Given the description of an element on the screen output the (x, y) to click on. 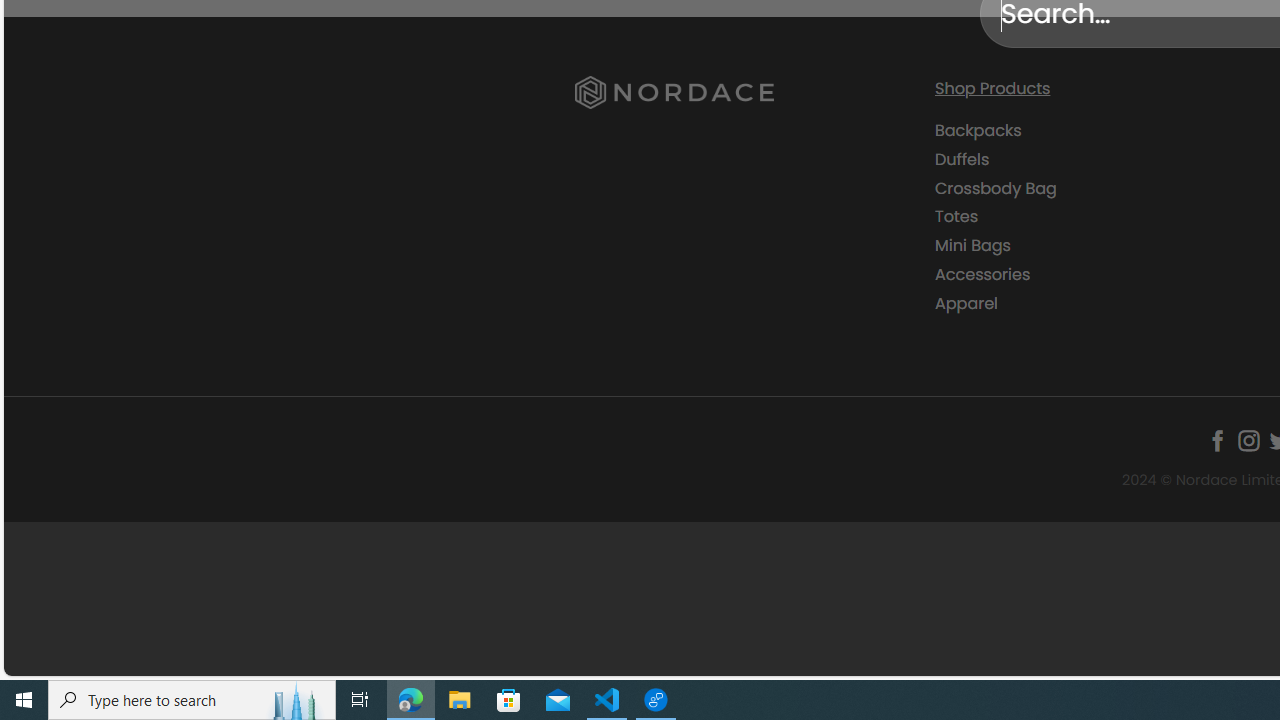
Crossbody Bag (995, 187)
Accessories (982, 273)
Apparel (1099, 303)
Accessories (1099, 274)
Backpacks (977, 130)
Follow on Facebook (1217, 440)
Duffels (961, 158)
Totes (1099, 216)
Backpacks (1099, 131)
Totes (955, 216)
Apparel (966, 302)
Mini Bags (1099, 246)
Crossbody Bag (1099, 188)
Mini Bags (972, 245)
Follow on Instagram (1248, 440)
